Given the description of an element on the screen output the (x, y) to click on. 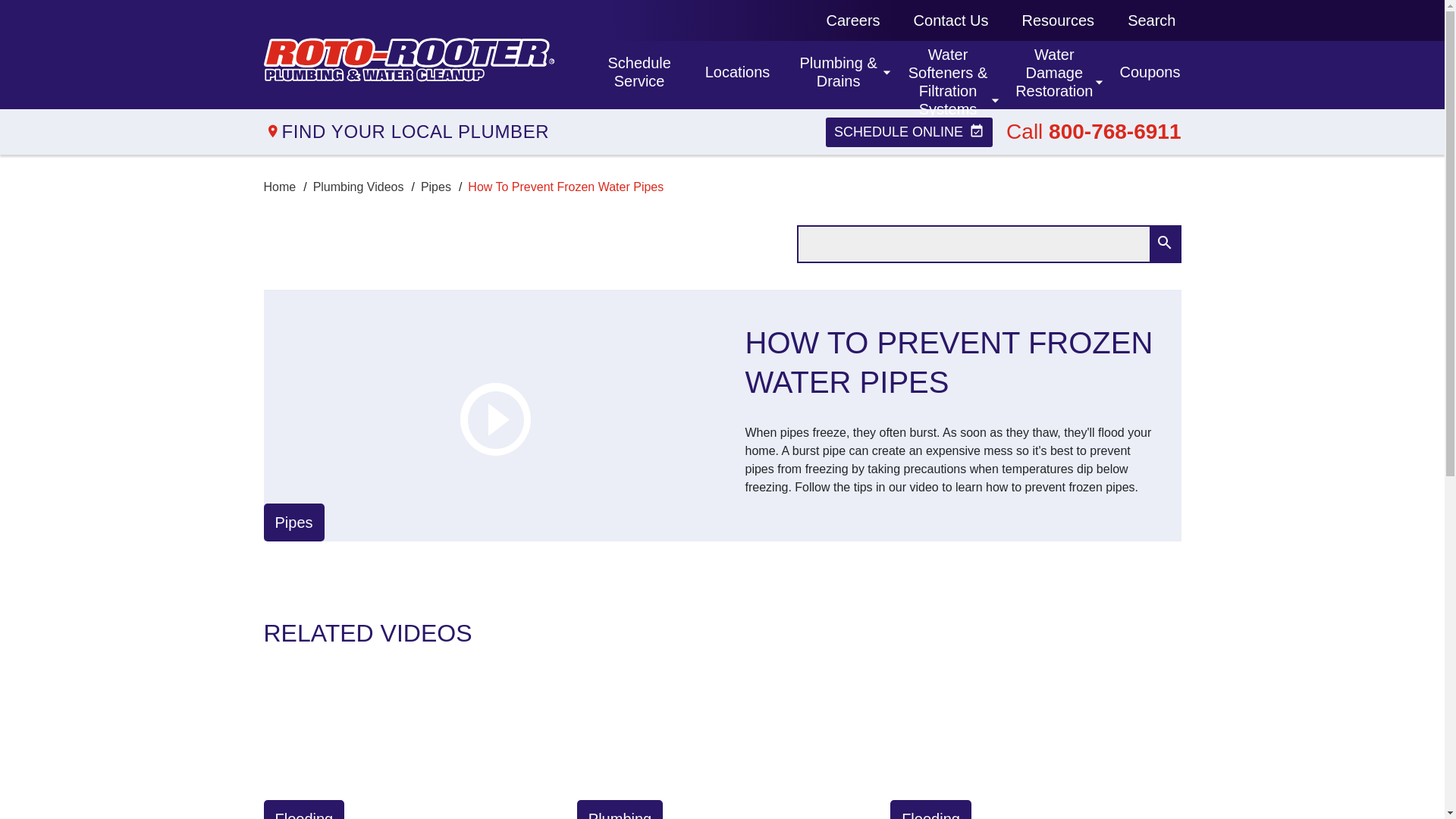
Locations (736, 74)
Search (637, 74)
Careers (1151, 20)
Resources (852, 20)
Contact Us (1059, 20)
